Given the description of an element on the screen output the (x, y) to click on. 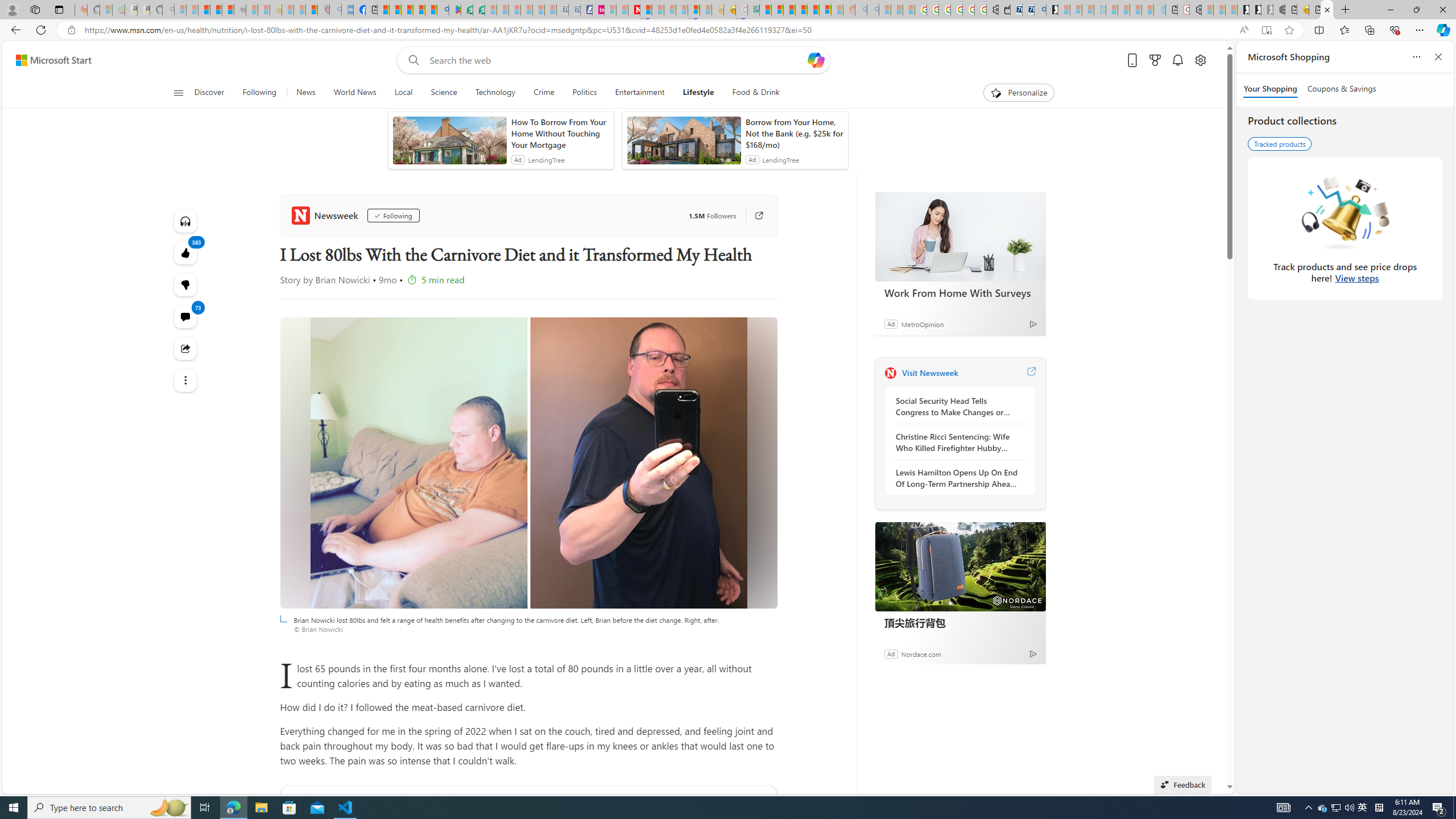
Nordace.com (920, 653)
Microsoft-Report a Concern to Bing - Sleeping (105, 9)
Address and search bar (658, 29)
Minimize (1390, 9)
Workspaces (34, 9)
Settings (1196, 9)
Microsoft Start - Sleeping (1136, 9)
